Given the description of an element on the screen output the (x, y) to click on. 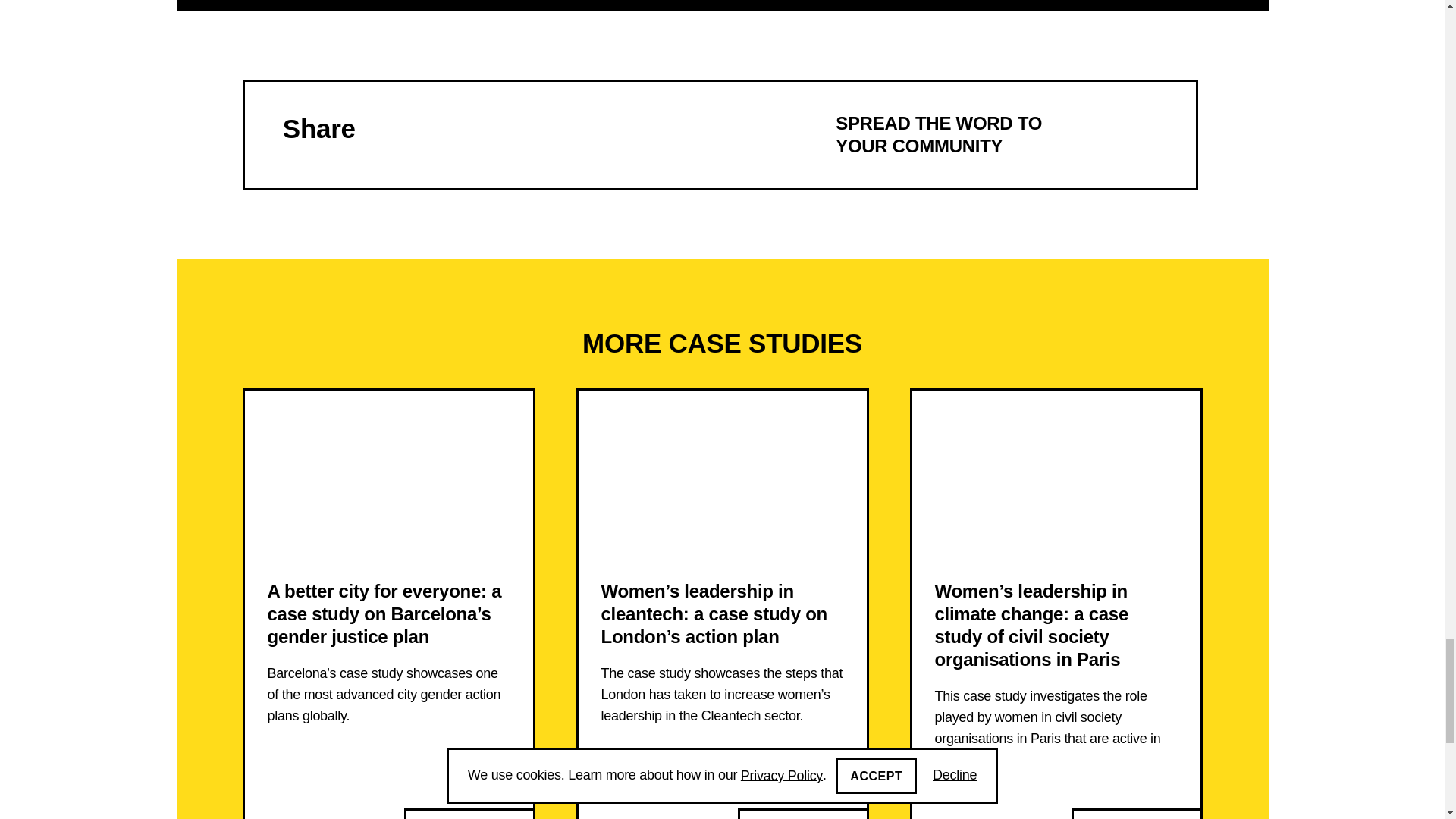
FIND OUT MORE (802, 813)
FIND OUT MORE (720, 134)
